Given the description of an element on the screen output the (x, y) to click on. 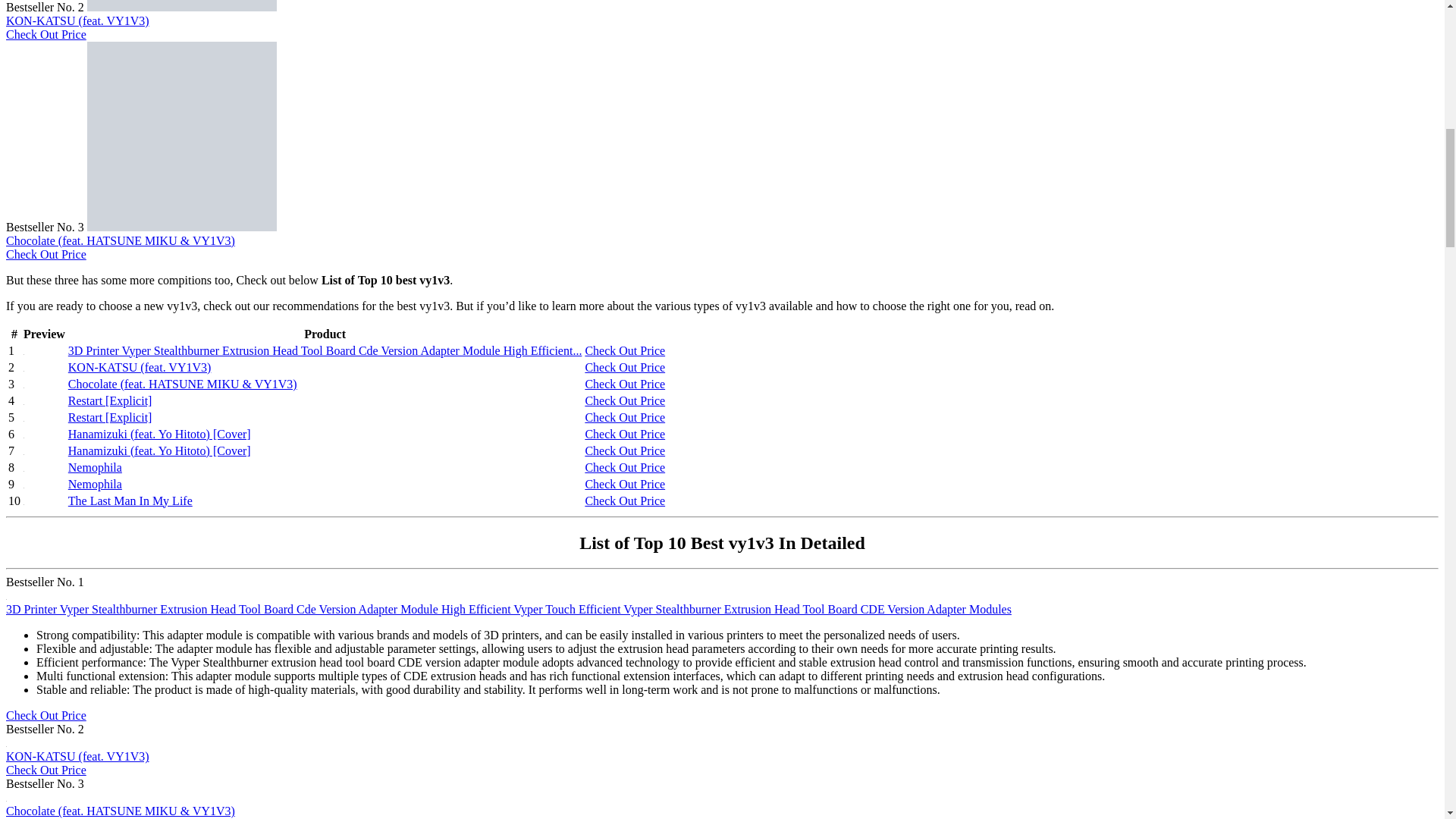
Check Out Price (625, 367)
Check Out Price (625, 367)
Check Out Price (45, 254)
Check Out Price (625, 417)
Check Out Price (625, 383)
Check Out Price (625, 350)
Check Out Price (625, 350)
Check Out Price (45, 33)
Check Out Price (45, 254)
